Given the description of an element on the screen output the (x, y) to click on. 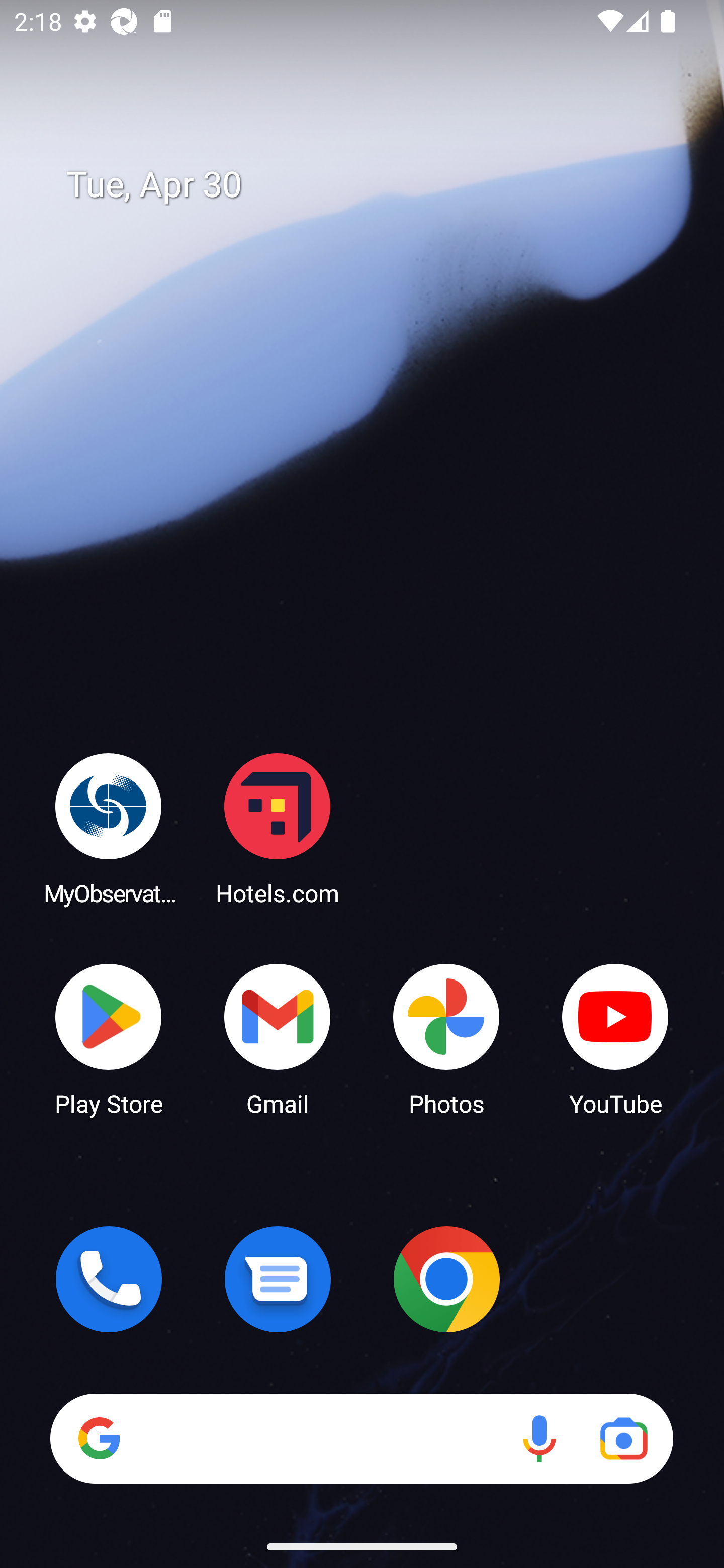
Tue, Apr 30 (375, 184)
MyObservatory (108, 828)
Hotels.com (277, 828)
Play Store (108, 1038)
Gmail (277, 1038)
Photos (445, 1038)
YouTube (615, 1038)
Phone (108, 1279)
Messages (277, 1279)
Chrome (446, 1279)
Voice search (539, 1438)
Google Lens (623, 1438)
